Given the description of an element on the screen output the (x, y) to click on. 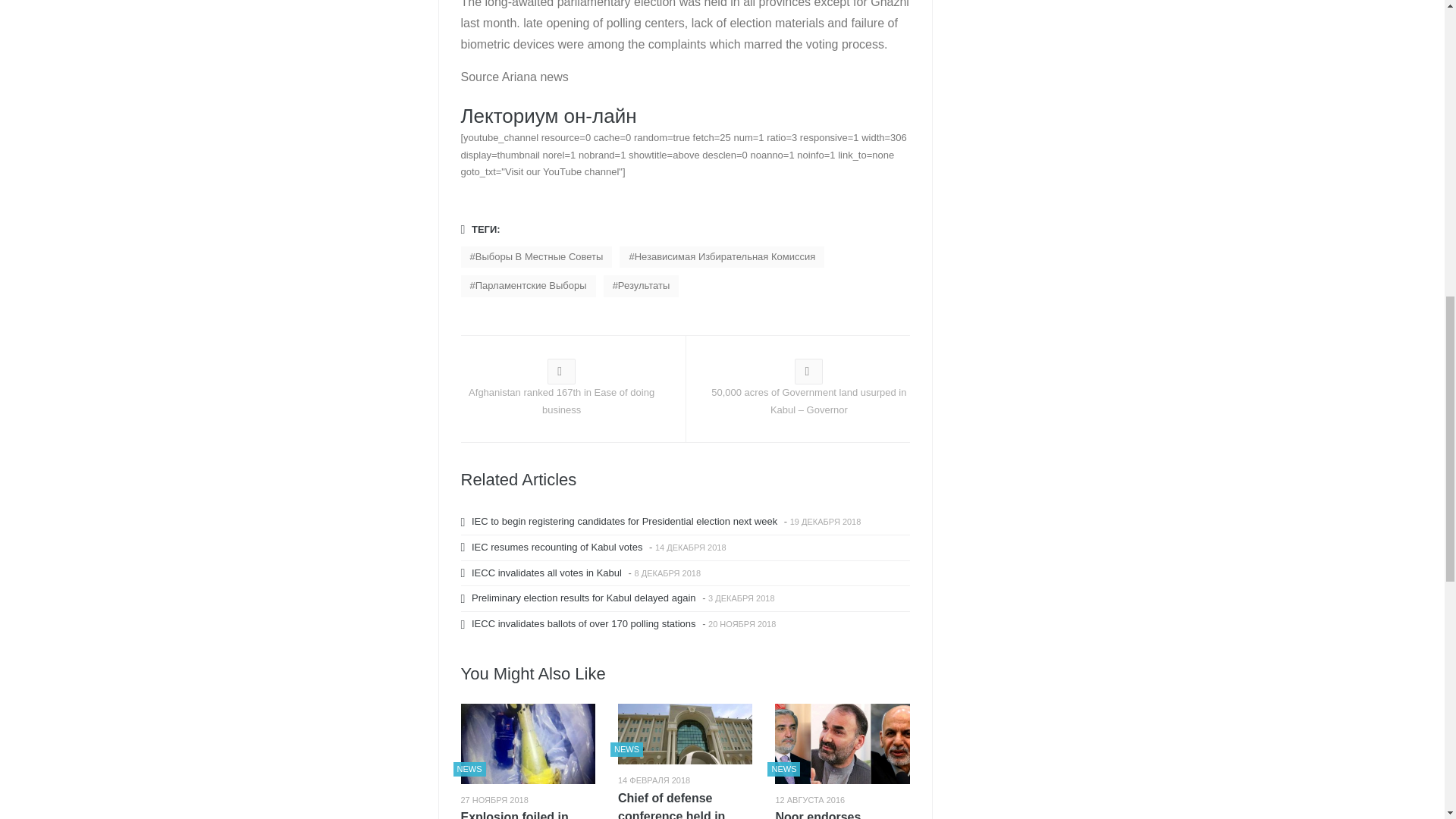
IECC invalidates all votes in Kabul (543, 572)
Explosion foiled in Kabul city (528, 742)
IEC resumes recounting of Kabul votes (553, 546)
Explosion foiled in Kabul city (528, 813)
Afghanistan ranked 167th in Ease of doing business (561, 392)
Explosion foiled in Kabul city (528, 813)
Preliminary election results for Kabul delayed again (580, 597)
IECC invalidates ballots of over 170 polling stations (580, 623)
